Given the description of an element on the screen output the (x, y) to click on. 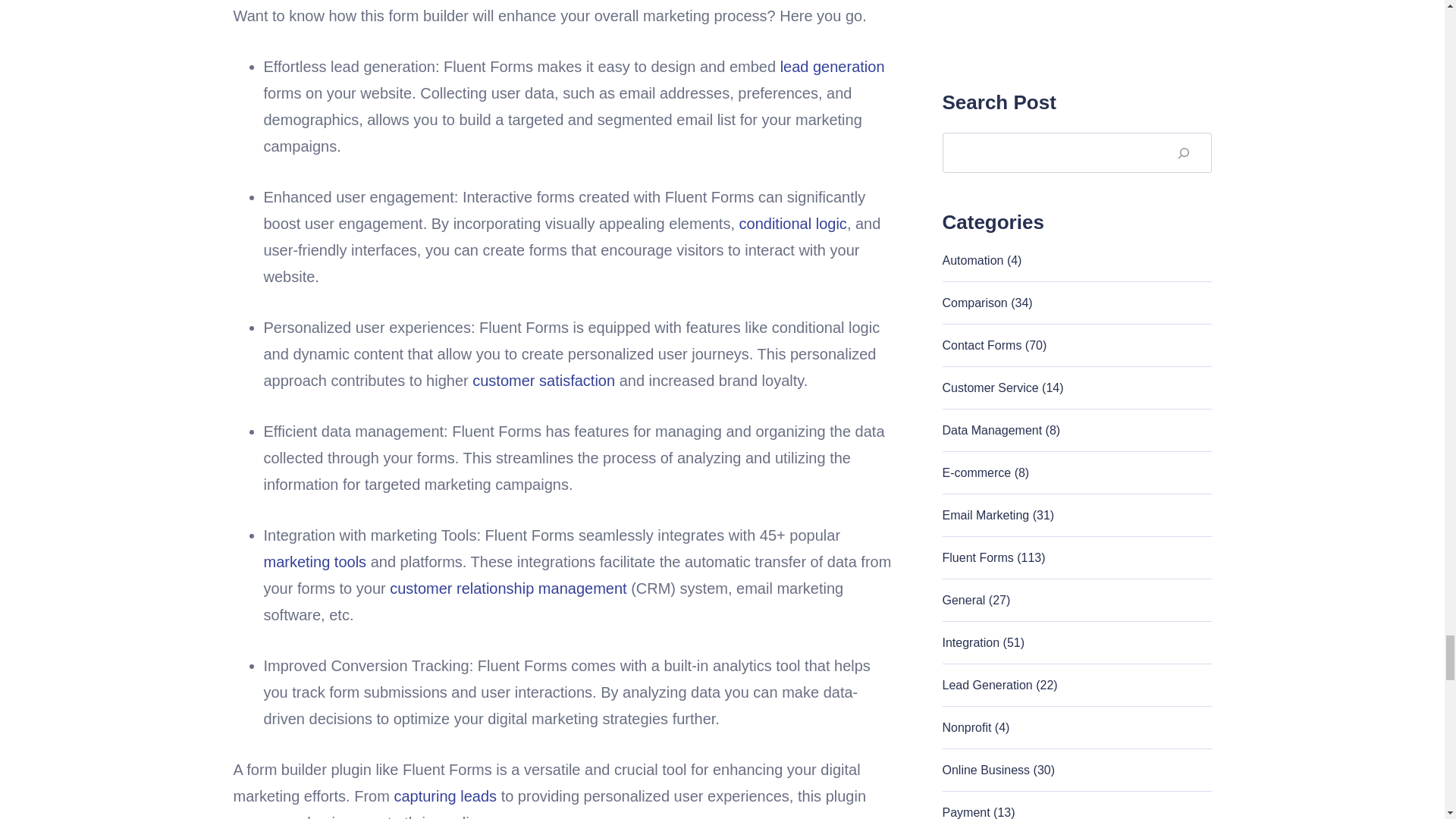
customer satisfaction (542, 380)
customer relationship management (508, 588)
marketing tools (314, 561)
lead generation (832, 66)
capturing leads (444, 795)
conditional logic (793, 223)
